Given the description of an element on the screen output the (x, y) to click on. 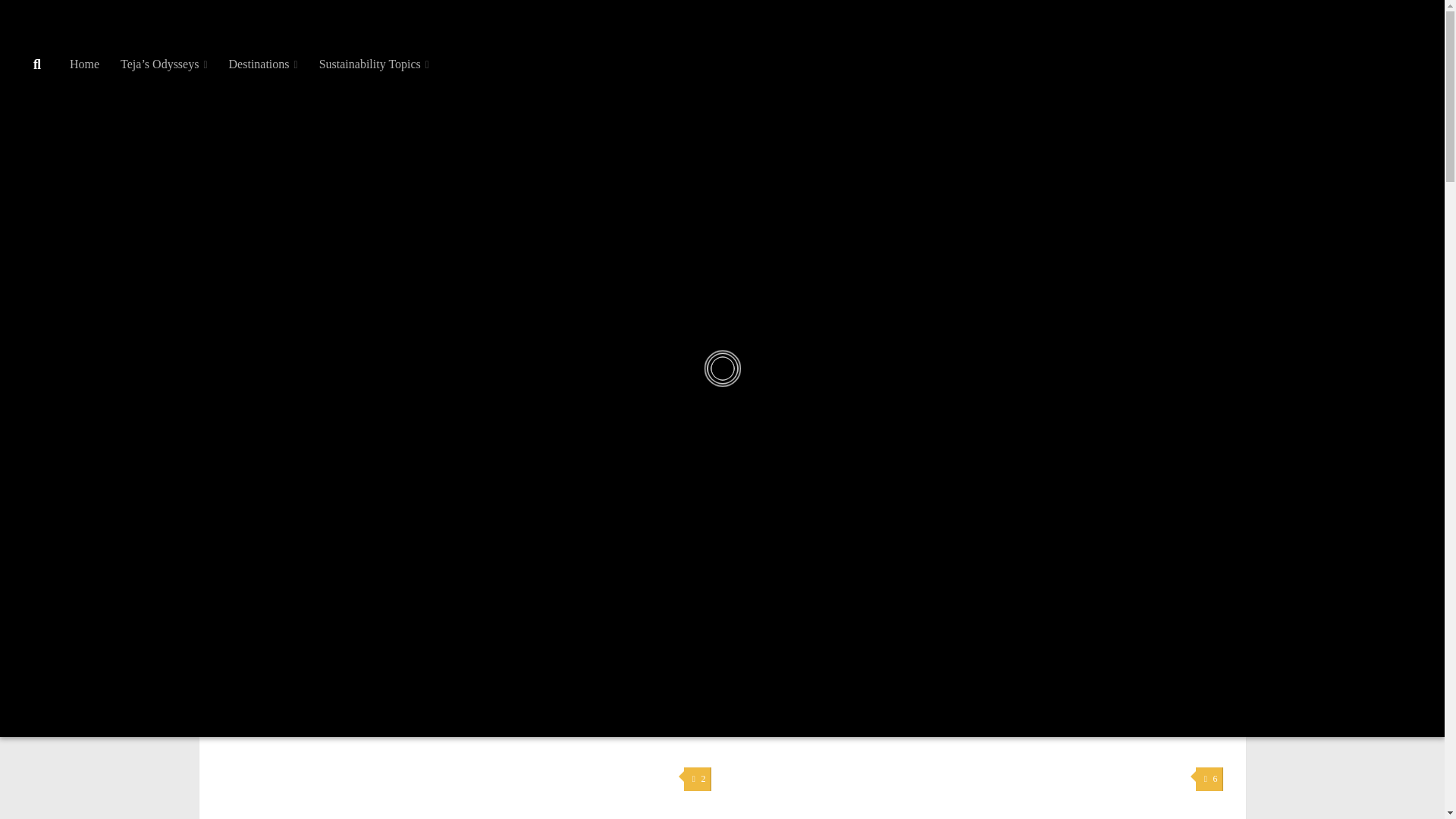
Below content (56, 20)
Home (84, 64)
Destinations (263, 64)
